Given the description of an element on the screen output the (x, y) to click on. 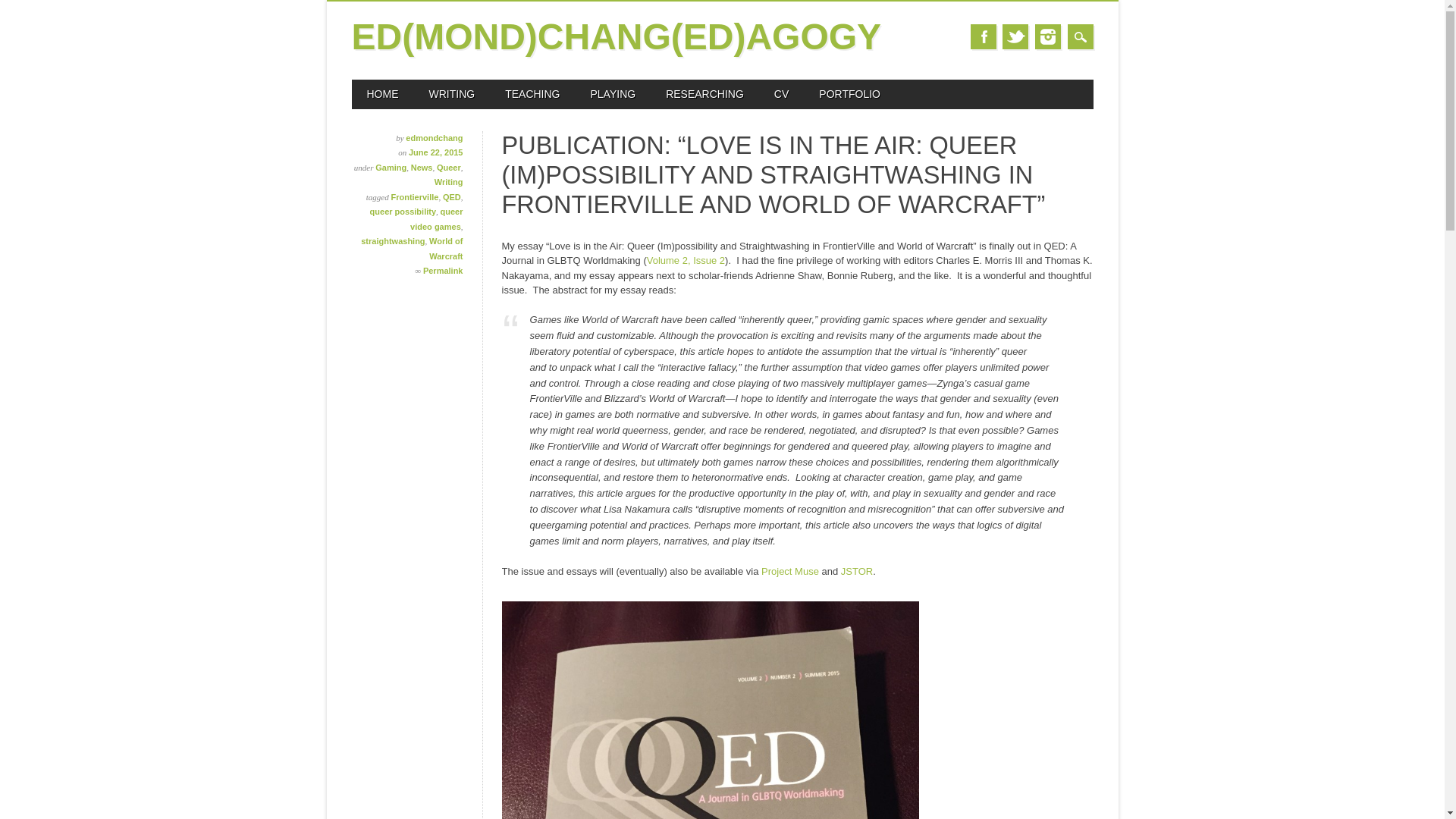
edmondchang (434, 137)
Gaming (390, 166)
RESEARCHING (704, 94)
QED (451, 196)
View all posts by edmondchang (434, 137)
June 22, 2015 (436, 152)
HOME (382, 94)
PORTFOLIO (849, 94)
queer possibility (402, 211)
News (421, 166)
